Given the description of an element on the screen output the (x, y) to click on. 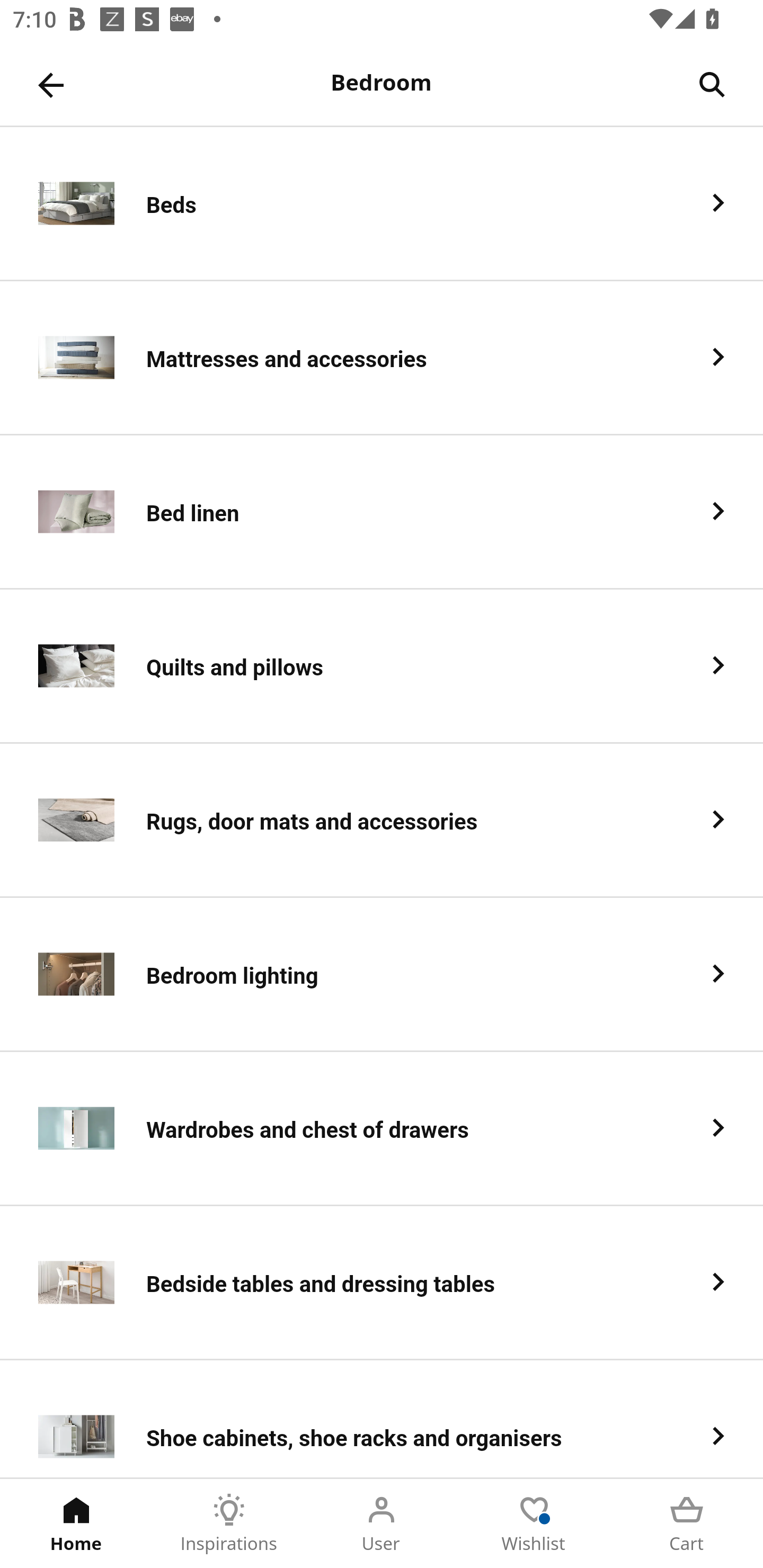
Beds (381, 203)
Mattresses and accessories (381, 357)
Bed linen (381, 512)
Quilts and pillows (381, 666)
Rugs, door mats and accessories (381, 820)
Bedroom lighting (381, 975)
Wardrobes and chest of drawers (381, 1128)
Bedside tables and dressing tables (381, 1283)
Shoe cabinets, shoe racks and organisers (381, 1419)
Home
Tab 1 of 5 (76, 1522)
Inspirations
Tab 2 of 5 (228, 1522)
User
Tab 3 of 5 (381, 1522)
Wishlist
Tab 4 of 5 (533, 1522)
Cart
Tab 5 of 5 (686, 1522)
